Given the description of an element on the screen output the (x, y) to click on. 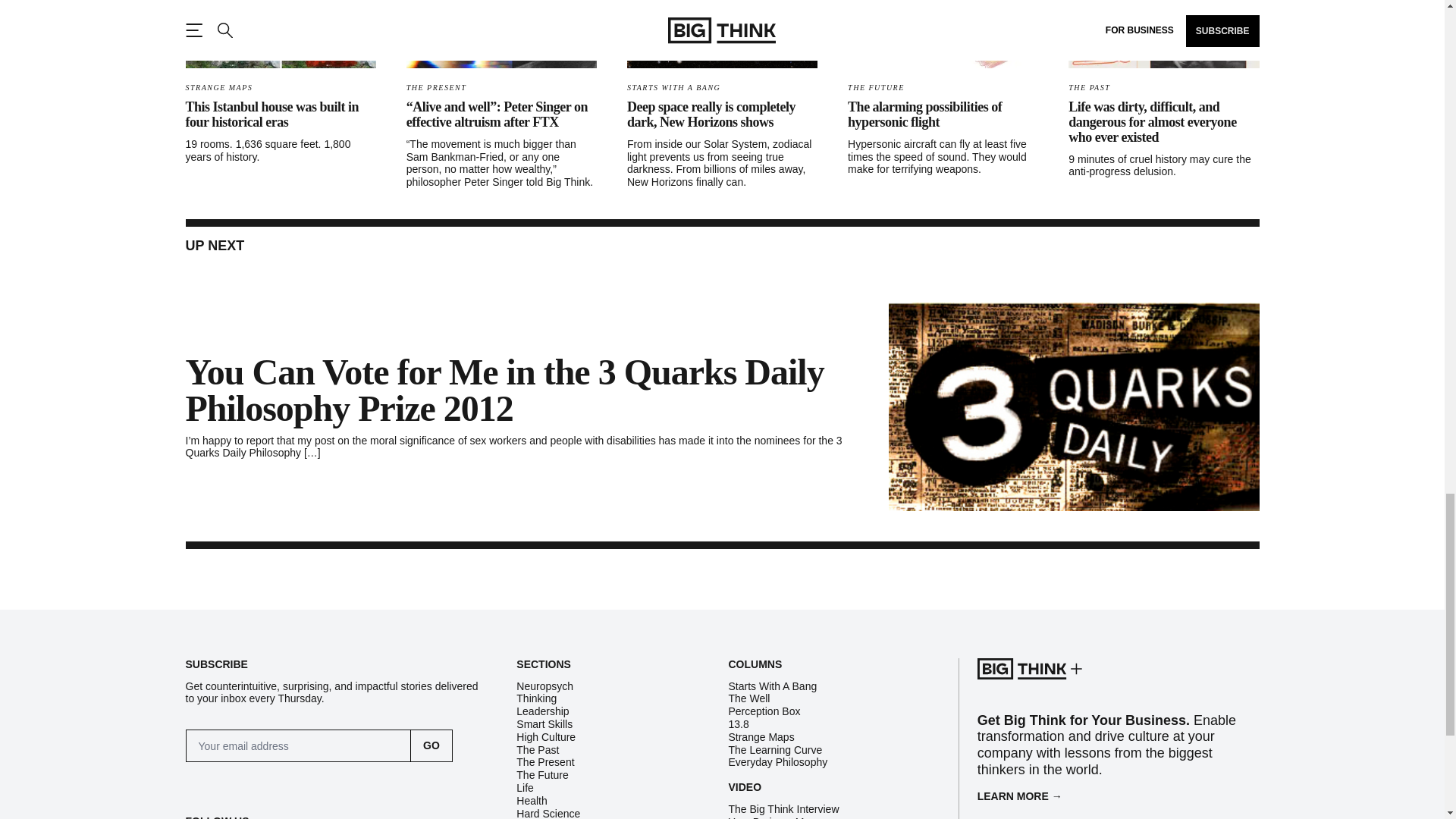
Go (431, 745)
